Given the description of an element on the screen output the (x, y) to click on. 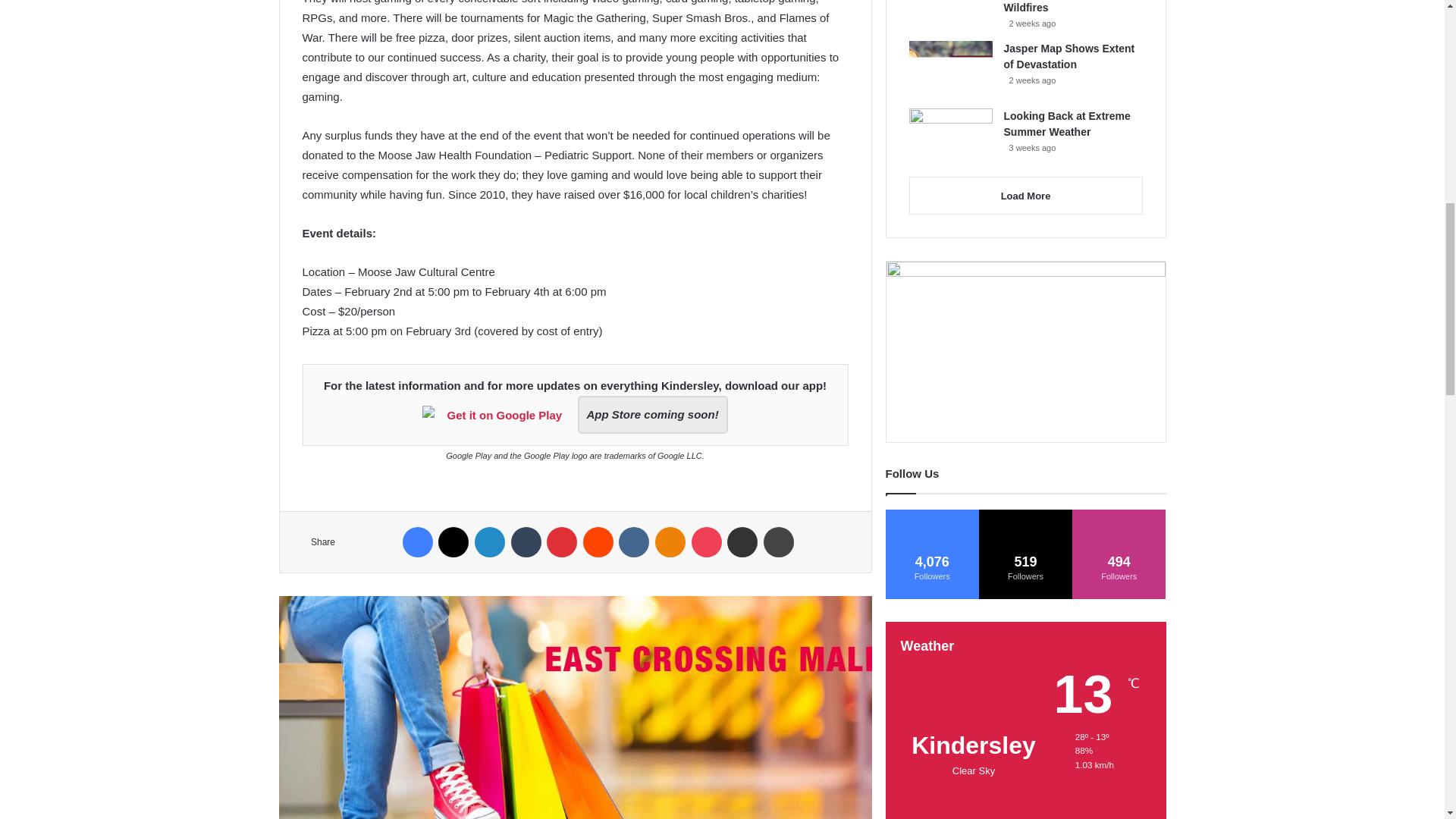
Pinterest (561, 542)
Reddit (597, 542)
X (453, 542)
Facebook (417, 542)
Tumblr (526, 542)
VKontakte (633, 542)
Pocket (706, 542)
Odnoklassniki (670, 542)
LinkedIn (489, 542)
